Given the description of an element on the screen output the (x, y) to click on. 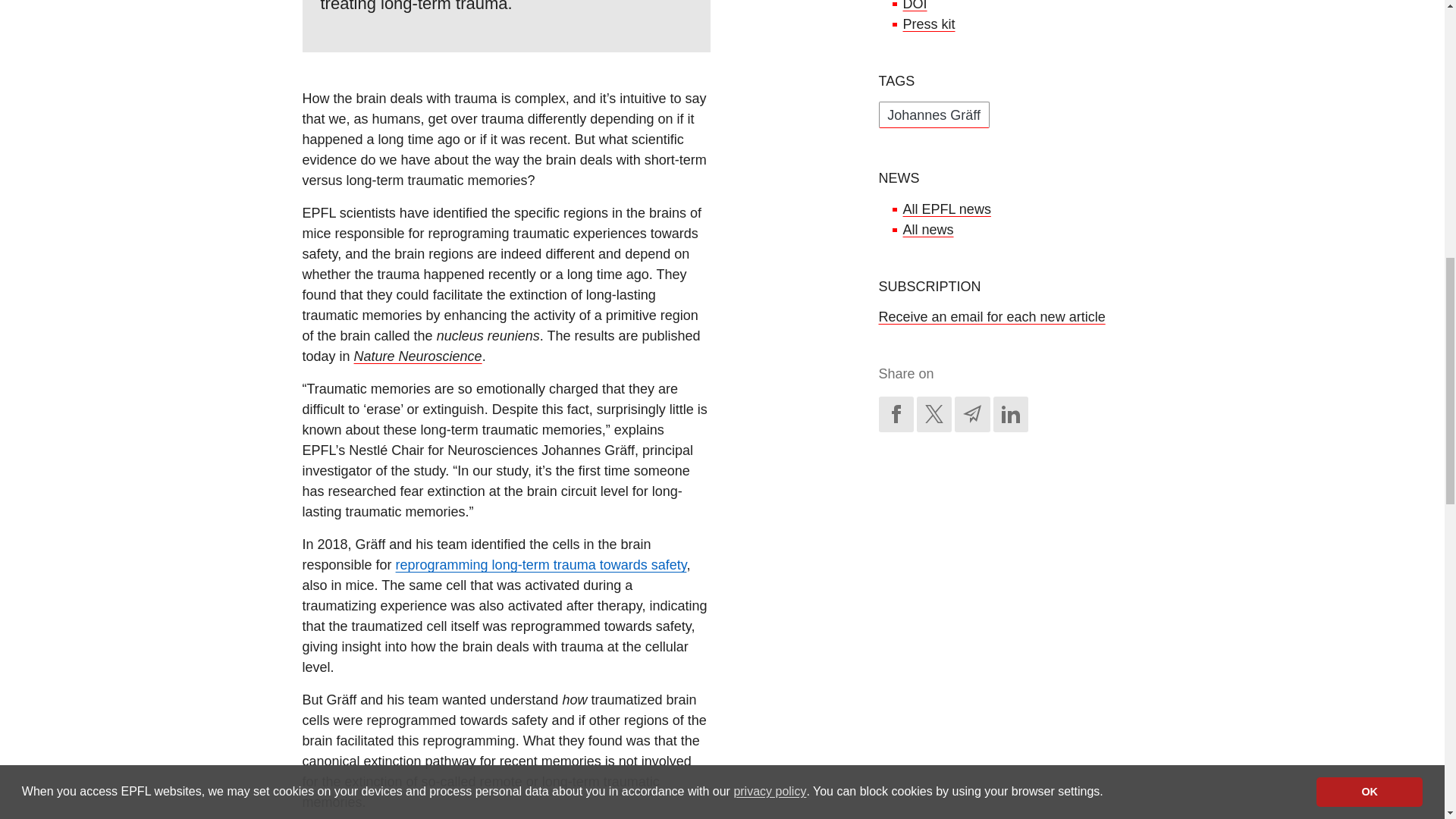
Nature Neuroscience (417, 355)
